Given the description of an element on the screen output the (x, y) to click on. 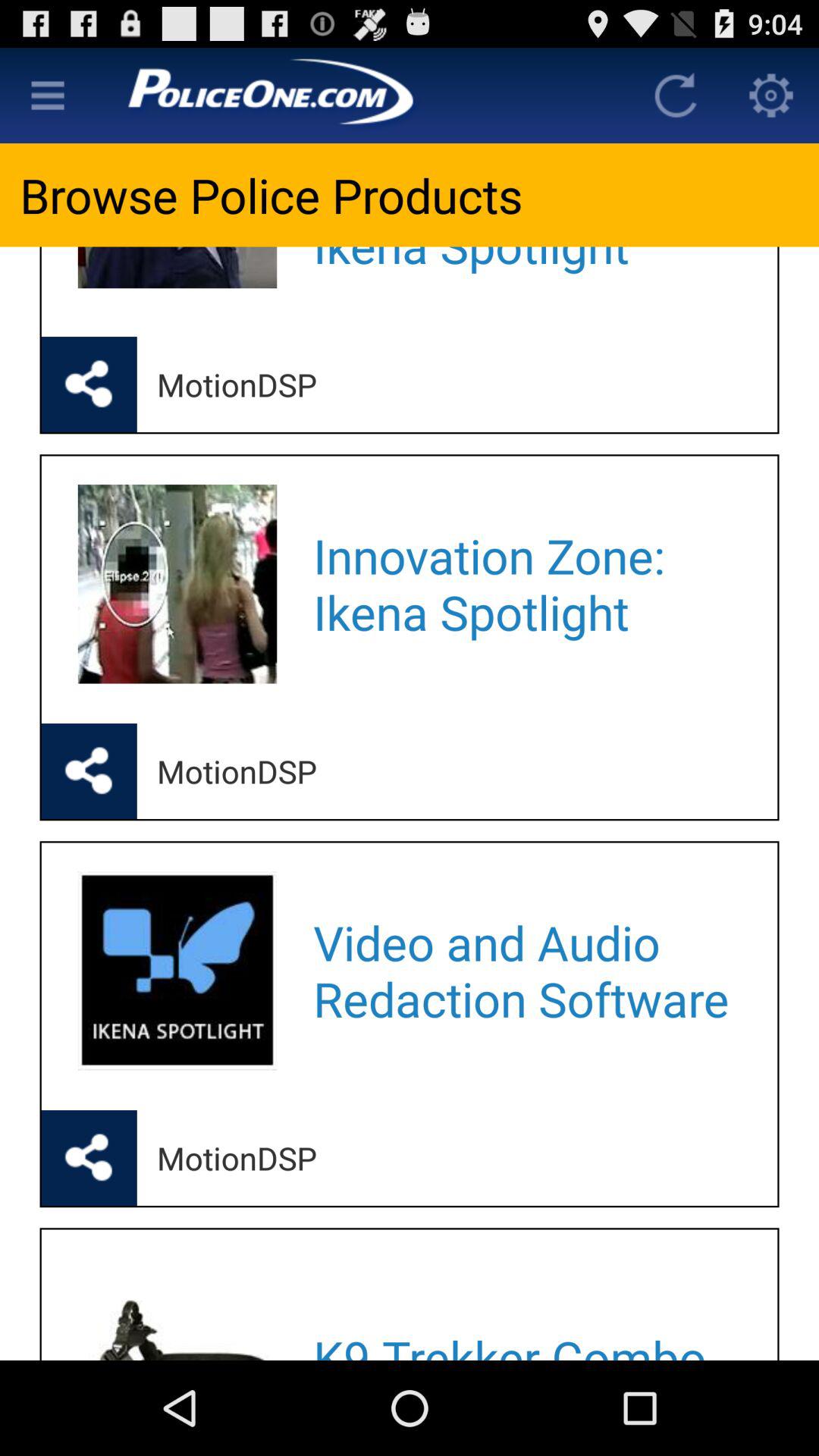
scroll to video and audio item (525, 970)
